Given the description of an element on the screen output the (x, y) to click on. 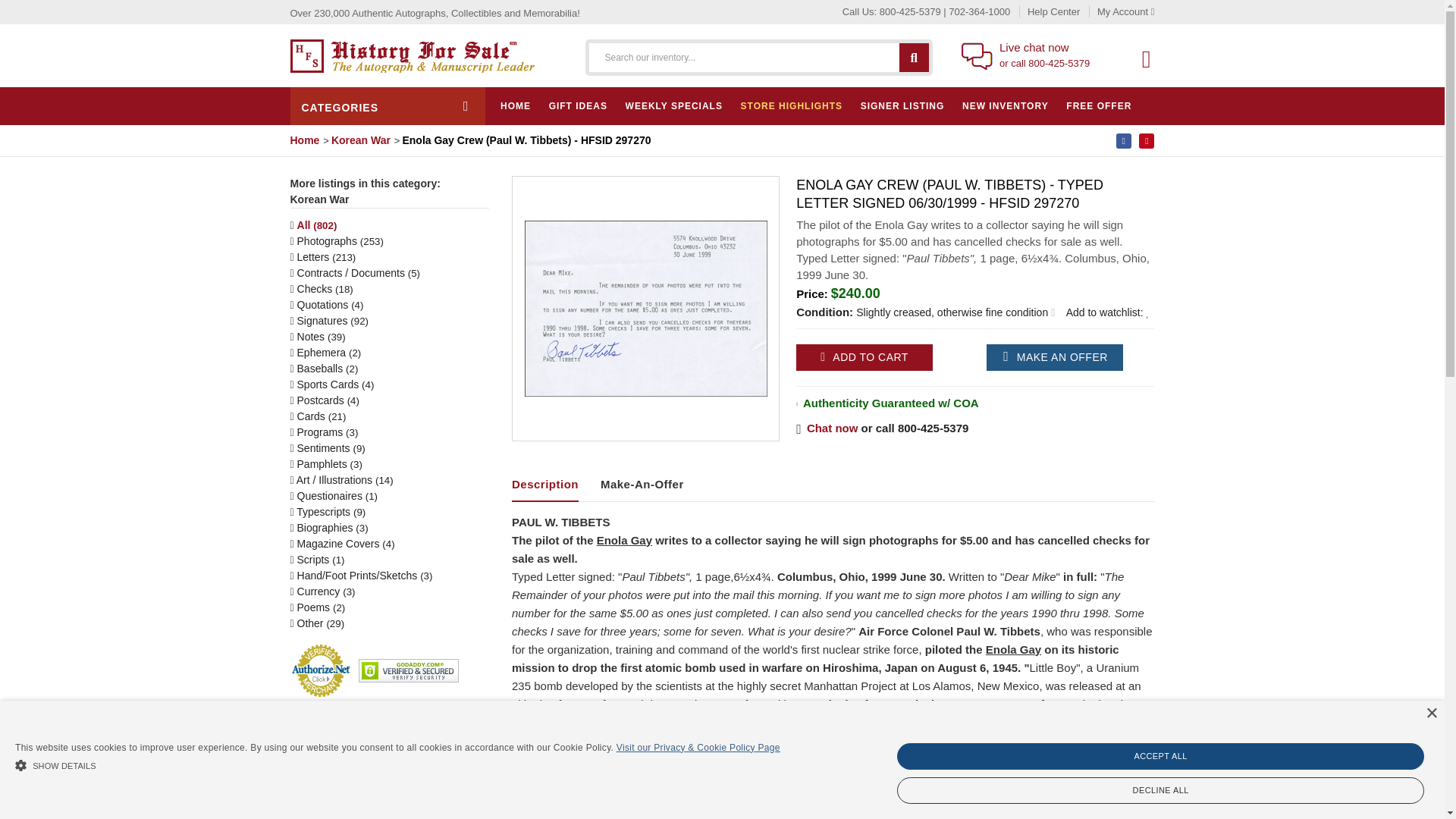
Help and FAQ Center (1046, 11)
Search our inventory (913, 56)
Category Menu (386, 105)
